Given the description of an element on the screen output the (x, y) to click on. 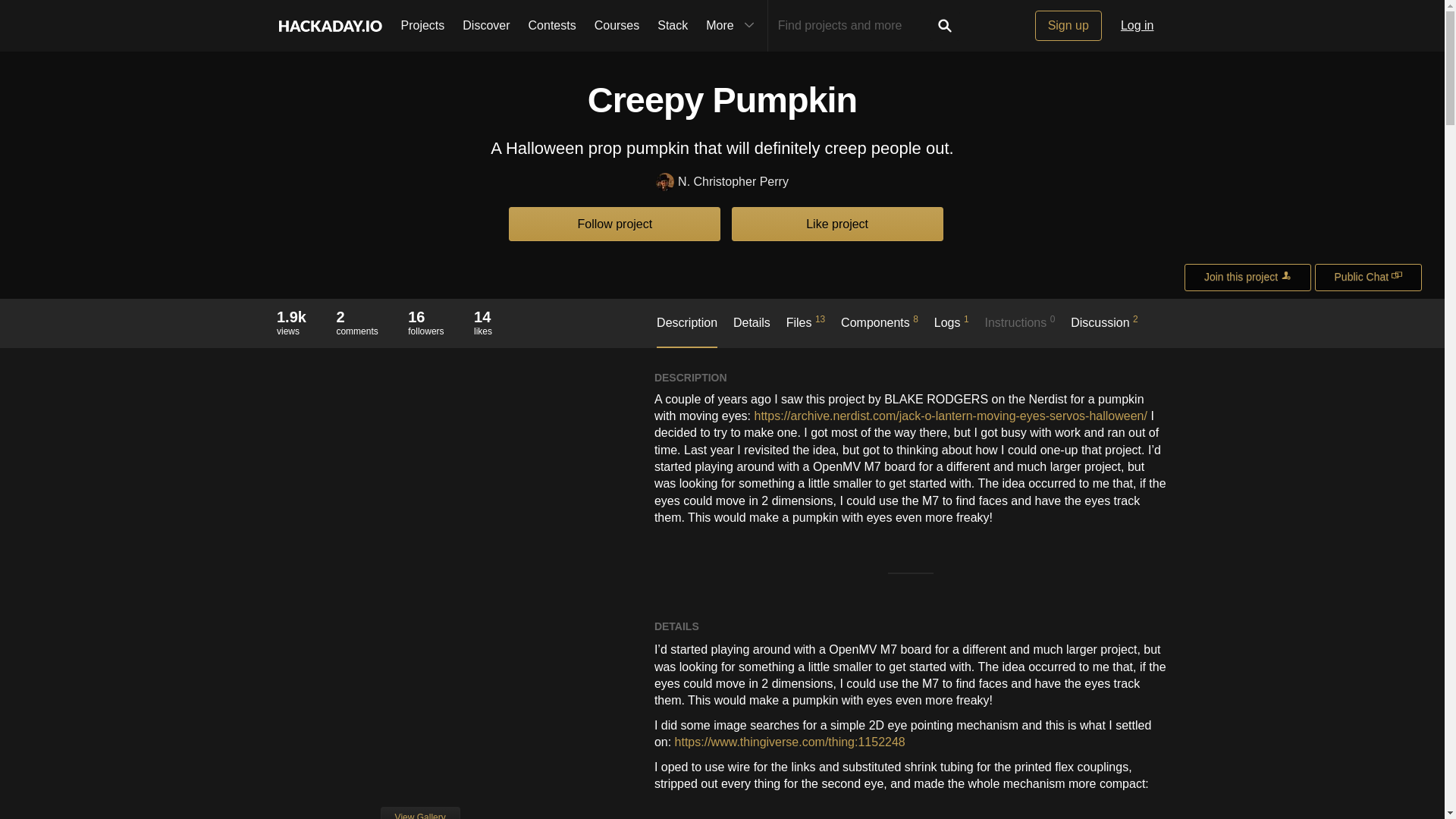
View Count (290, 316)
Followers (425, 316)
More (732, 25)
Two characters minimum (853, 25)
Files 13 (805, 329)
Follow project (614, 223)
Projects (421, 25)
Comments (356, 316)
Details (751, 330)
Public Chat (1368, 277)
Join this project (1248, 277)
Description (686, 331)
Like project (356, 322)
